Given the description of an element on the screen output the (x, y) to click on. 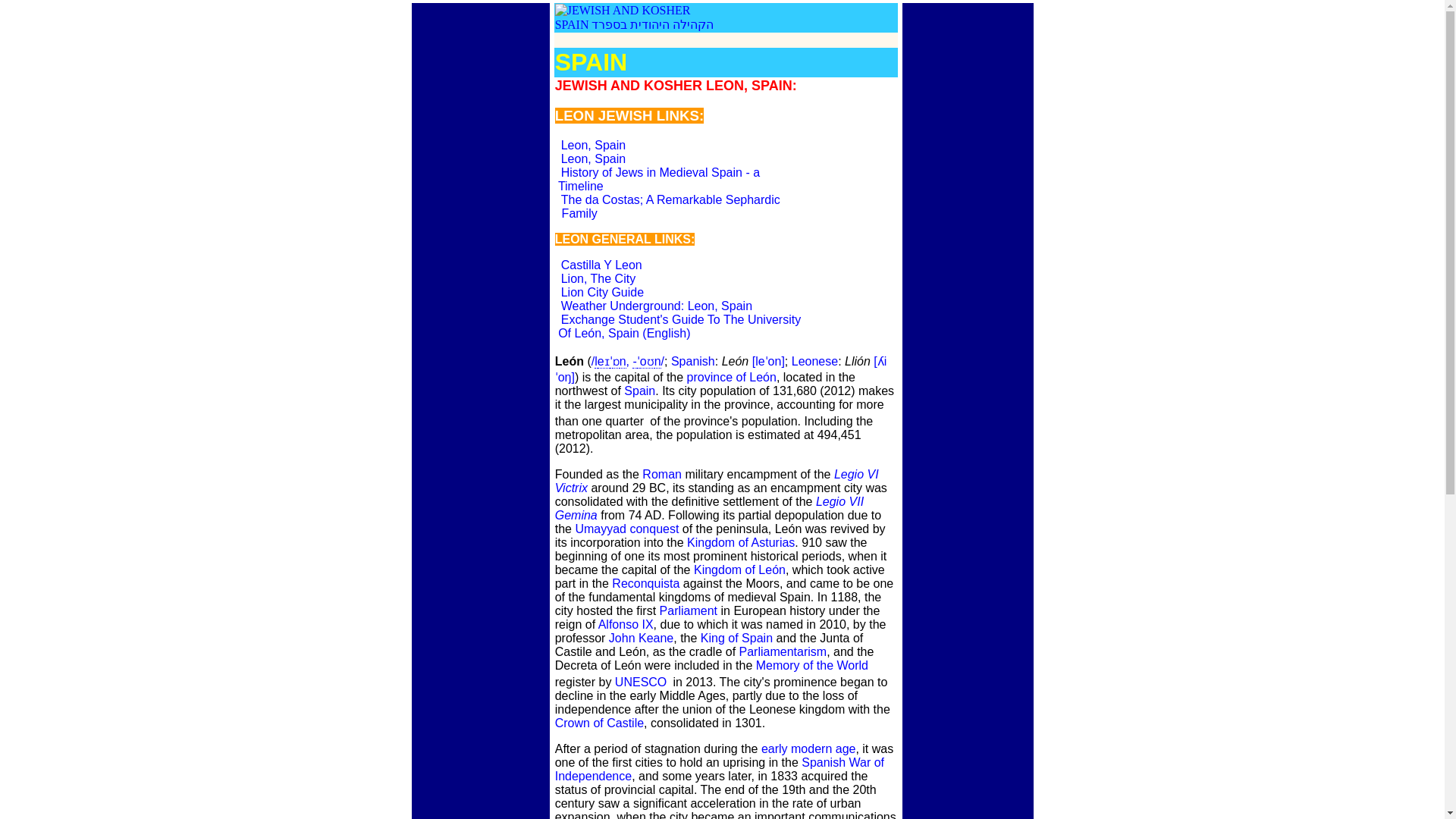
Parliamentarism (667, 206)
Leon, Spain (783, 651)
Legio VI Victrix (593, 158)
Lion, The City (716, 480)
Leonese language (597, 278)
Parliament (815, 360)
Umayyad conquest (688, 610)
Alfonso IX (626, 528)
Legio VII Gemina (625, 624)
